Given the description of an element on the screen output the (x, y) to click on. 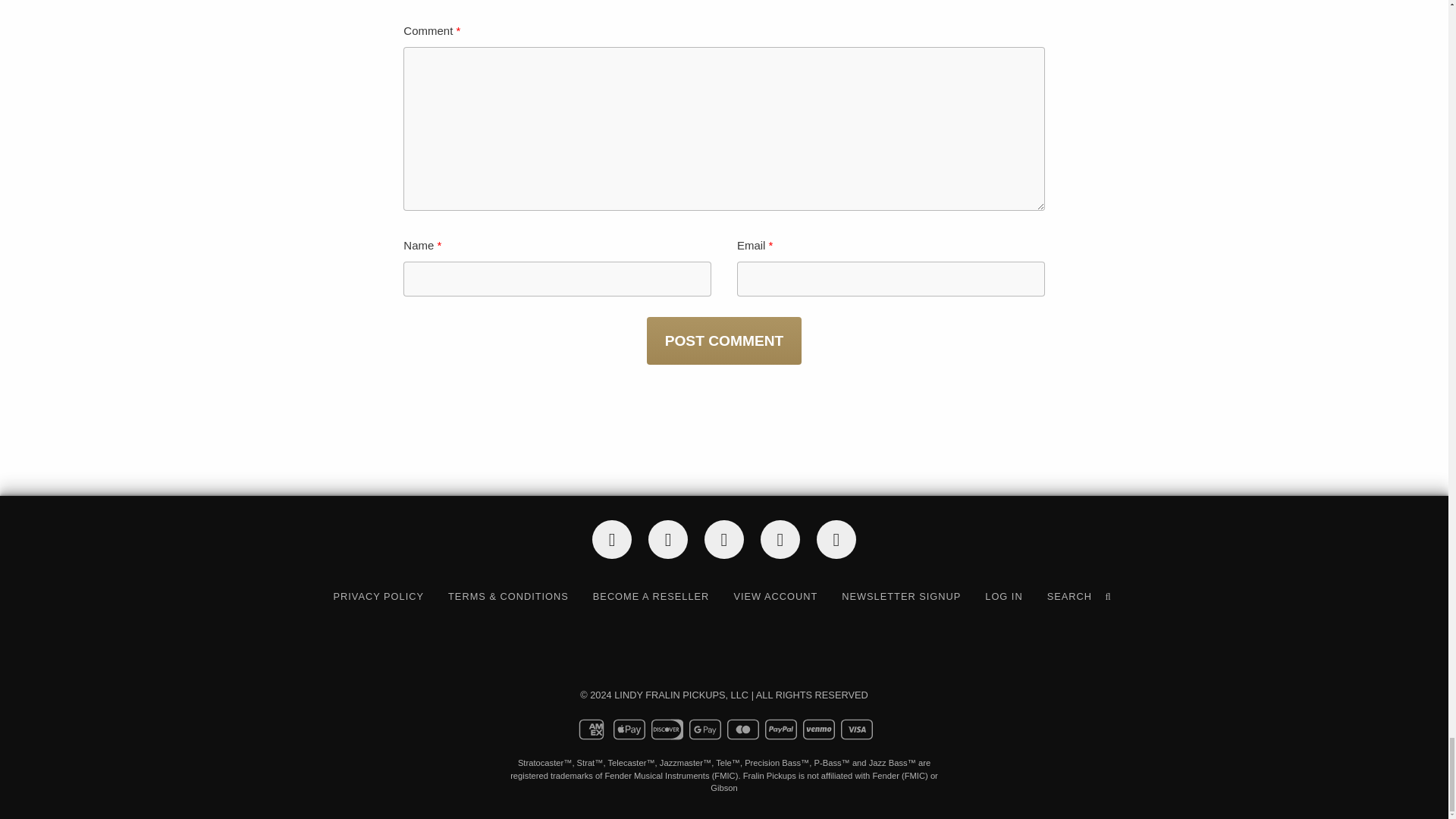
Soundcloud (779, 539)
Post Comment (724, 340)
TikTok (667, 539)
Facebook (611, 539)
YouTube (723, 539)
Instagram (836, 539)
